Given the description of an element on the screen output the (x, y) to click on. 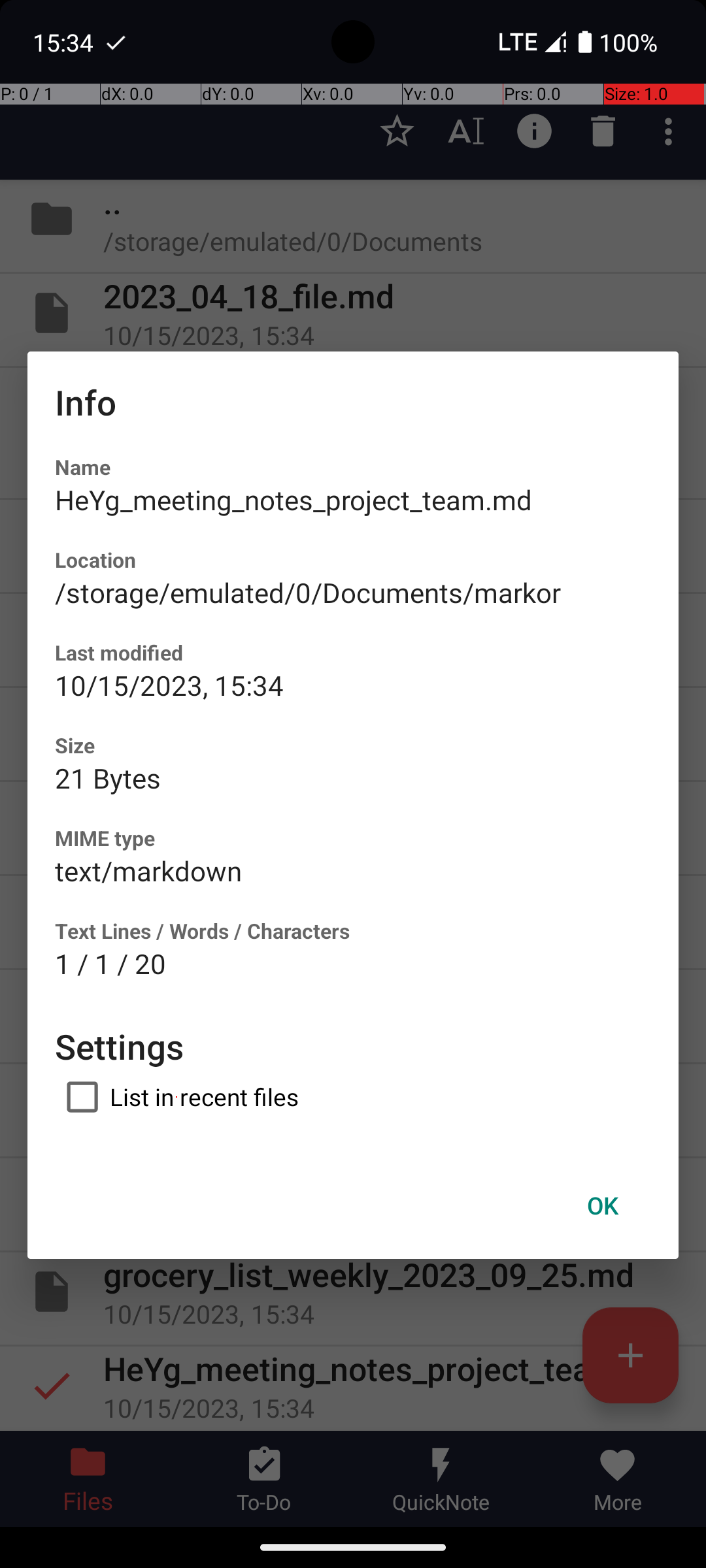
Info Element type: android.widget.TextView (85, 401)
HeYg_meeting_notes_project_team.md Element type: android.widget.TextView (293, 499)
/storage/emulated/0/Documents/markor Element type: android.widget.TextView (307, 591)
Last modified Element type: android.widget.TextView (118, 652)
10/15/2023, 15:34 Element type: android.widget.TextView (168, 684)
Size Element type: android.widget.TextView (74, 745)
21 Bytes Element type: android.widget.TextView (107, 777)
MIME type Element type: android.widget.TextView (104, 837)
text/markdown Element type: android.widget.TextView (147, 870)
Text Lines / Words / Characters Element type: android.widget.TextView (202, 930)
1 / 1 / 20 Element type: android.widget.TextView (110, 962)
List in recent files Element type: android.widget.CheckBox (176, 1096)
